Given the description of an element on the screen output the (x, y) to click on. 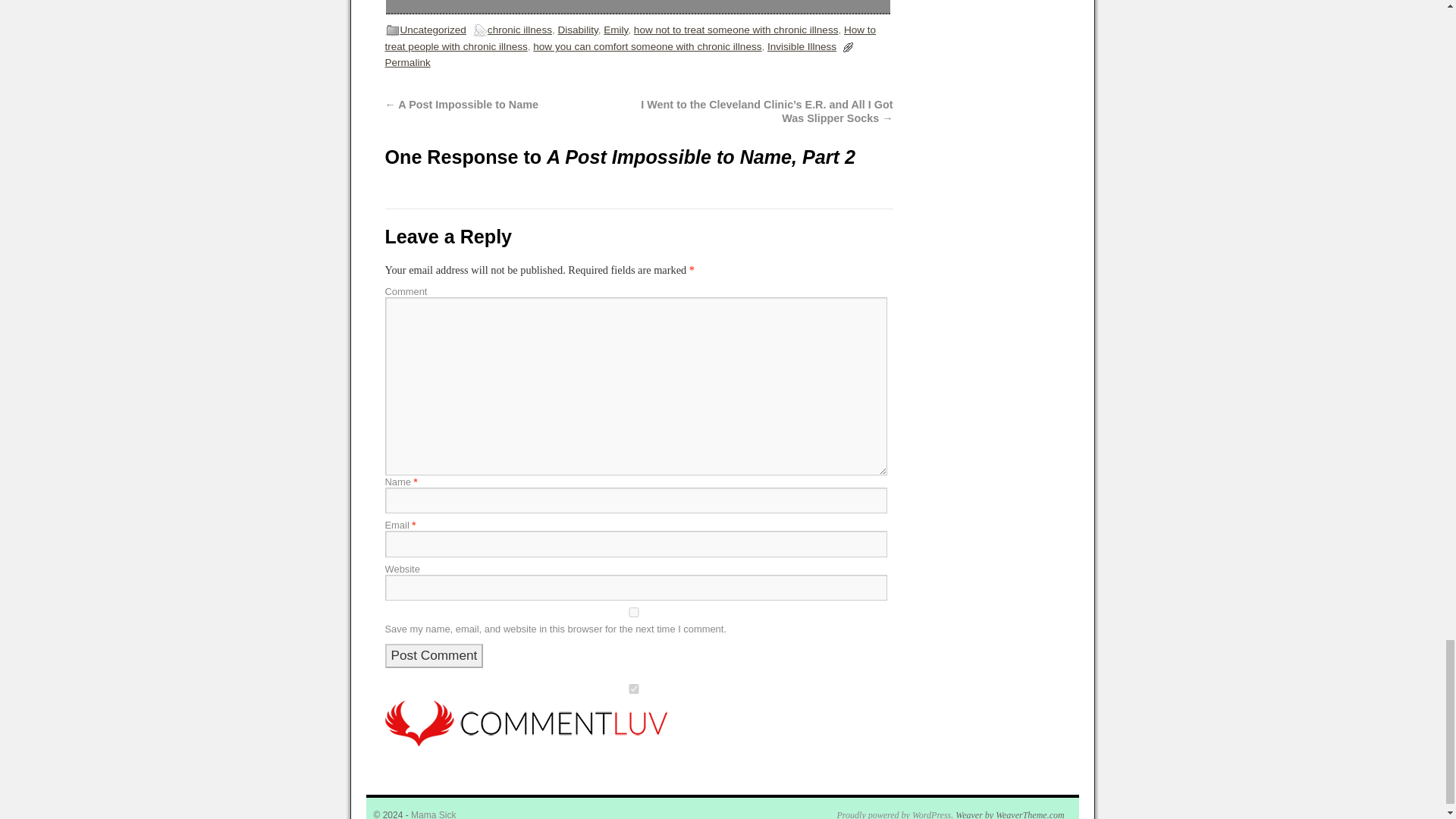
on (634, 688)
Disability (576, 30)
How to treat people with chronic illness (630, 38)
how not to treat someone with chronic illness (735, 30)
Uncategorized (432, 30)
Post Comment (434, 655)
Permalink to A Post Impossible to Name, Part 2 (407, 61)
yes (634, 612)
Post Comment (434, 655)
Emily (615, 30)
